Given the description of an element on the screen output the (x, y) to click on. 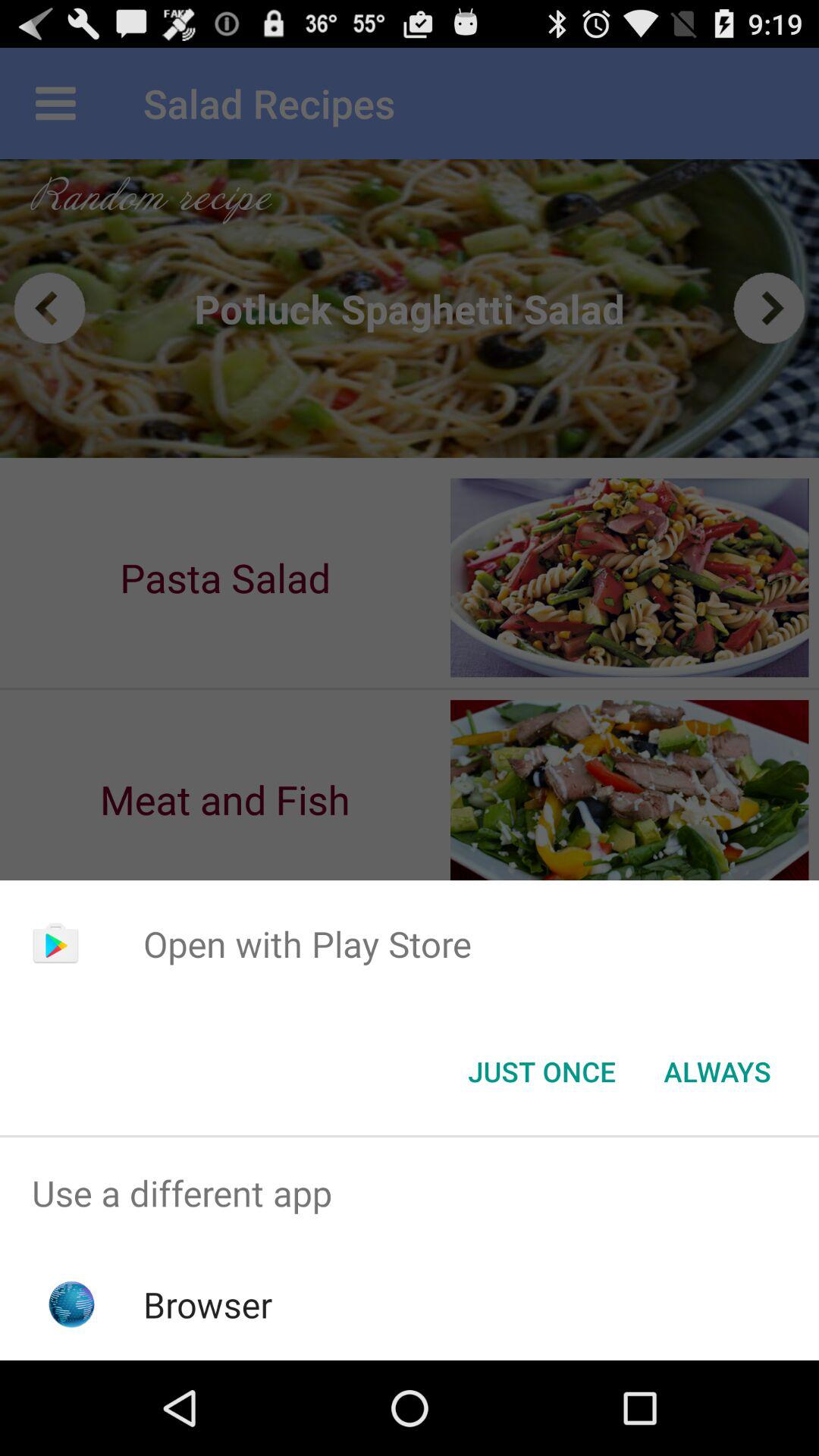
flip until the always (717, 1071)
